Given the description of an element on the screen output the (x, y) to click on. 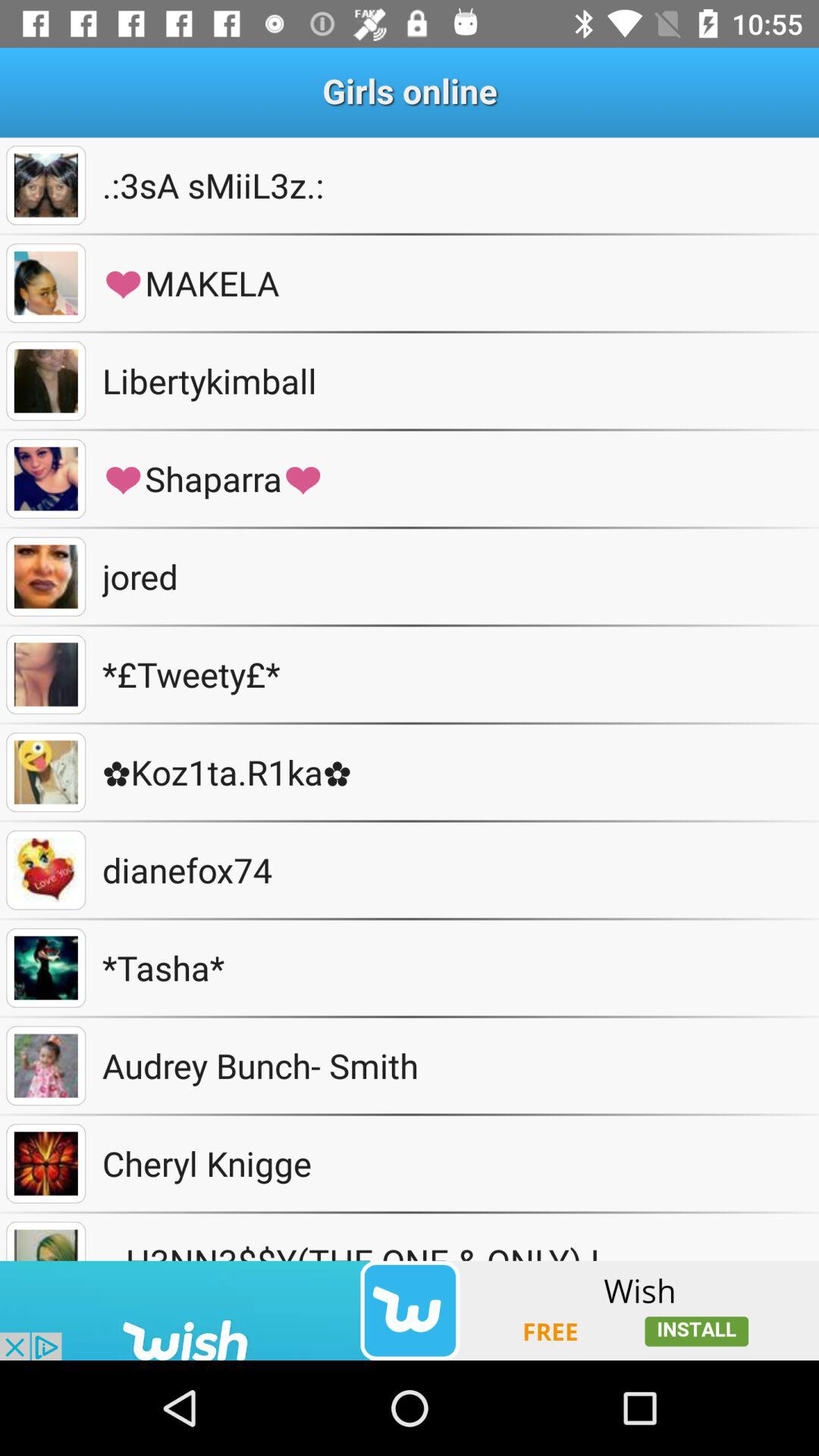
secelact the fudiful pictor (45, 283)
